Given the description of an element on the screen output the (x, y) to click on. 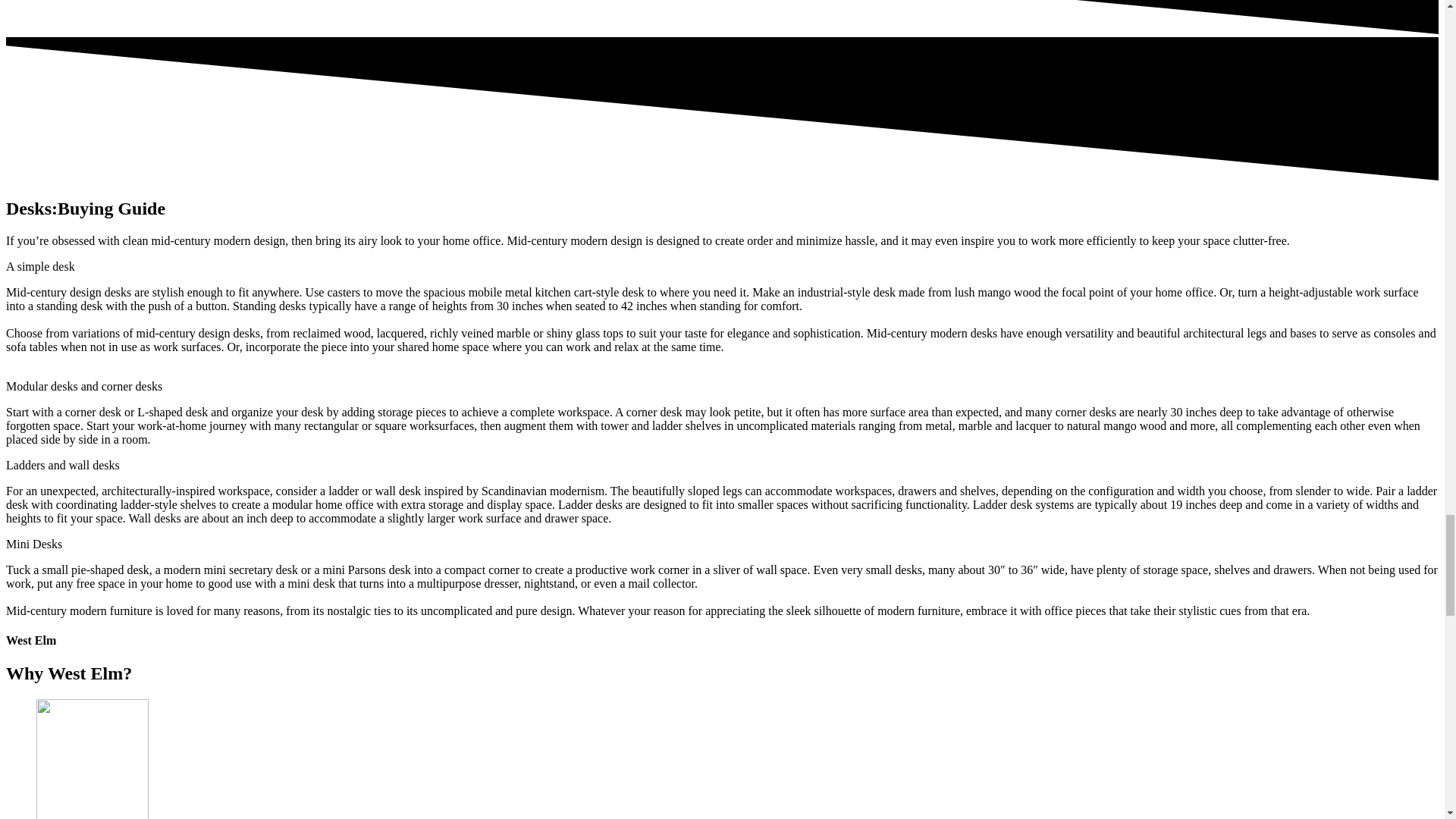
Mini Desks (33, 543)
Ladders and wall desks (62, 464)
A simple desk (40, 266)
Modular desks and corner desks (83, 386)
